Given the description of an element on the screen output the (x, y) to click on. 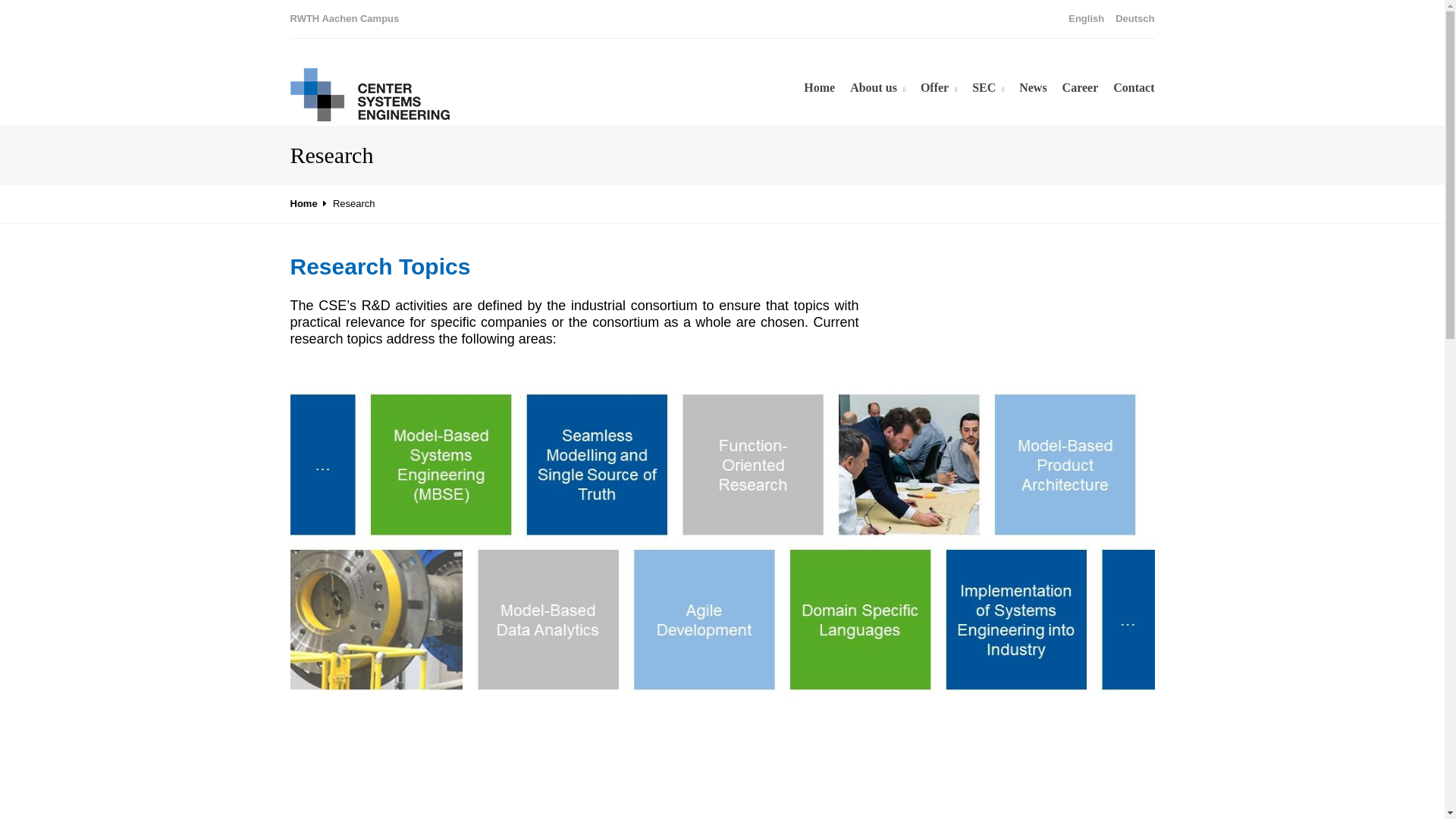
English (1085, 18)
English (1085, 18)
RWTH Aachen Campus (343, 18)
Contact (1133, 87)
About us (877, 87)
Home (818, 87)
Center for Systems Engineering  (303, 203)
Career (1080, 87)
Deutsch (1134, 18)
Deutsch (1134, 18)
Offer (938, 87)
SEC (988, 87)
News (1032, 87)
Home (303, 203)
